Given the description of an element on the screen output the (x, y) to click on. 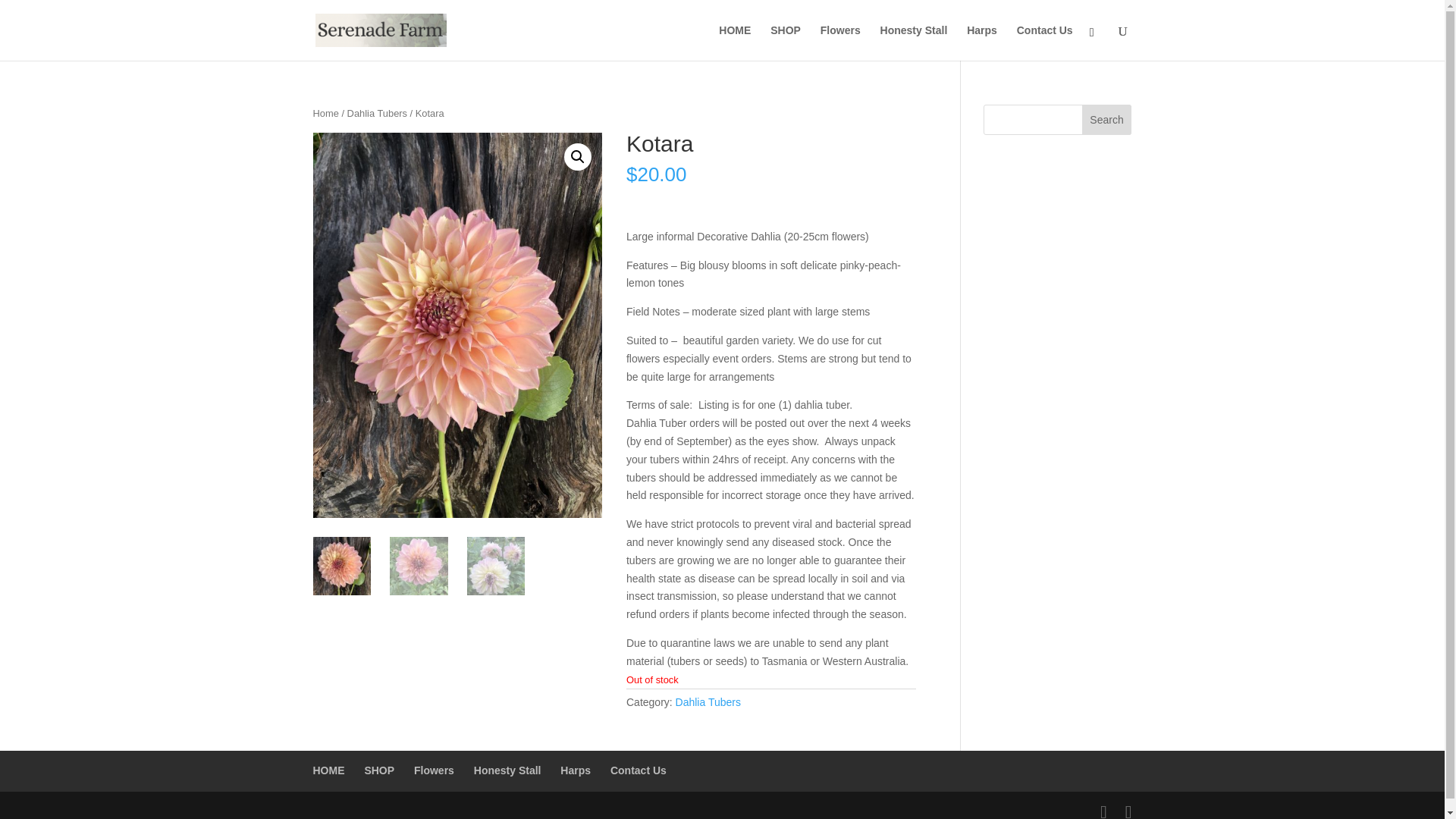
Contact Us (1044, 42)
Flowers (433, 770)
Search (1106, 119)
HOME (735, 42)
SHOP (379, 770)
Flowers (840, 42)
Home (325, 112)
Dahlia Tubers (708, 702)
Contact Us (638, 770)
Honesty Stall (507, 770)
Dahlia Tubers (377, 112)
Harps (575, 770)
Honesty Stall (913, 42)
HOME (328, 770)
Search (1106, 119)
